Given the description of an element on the screen output the (x, y) to click on. 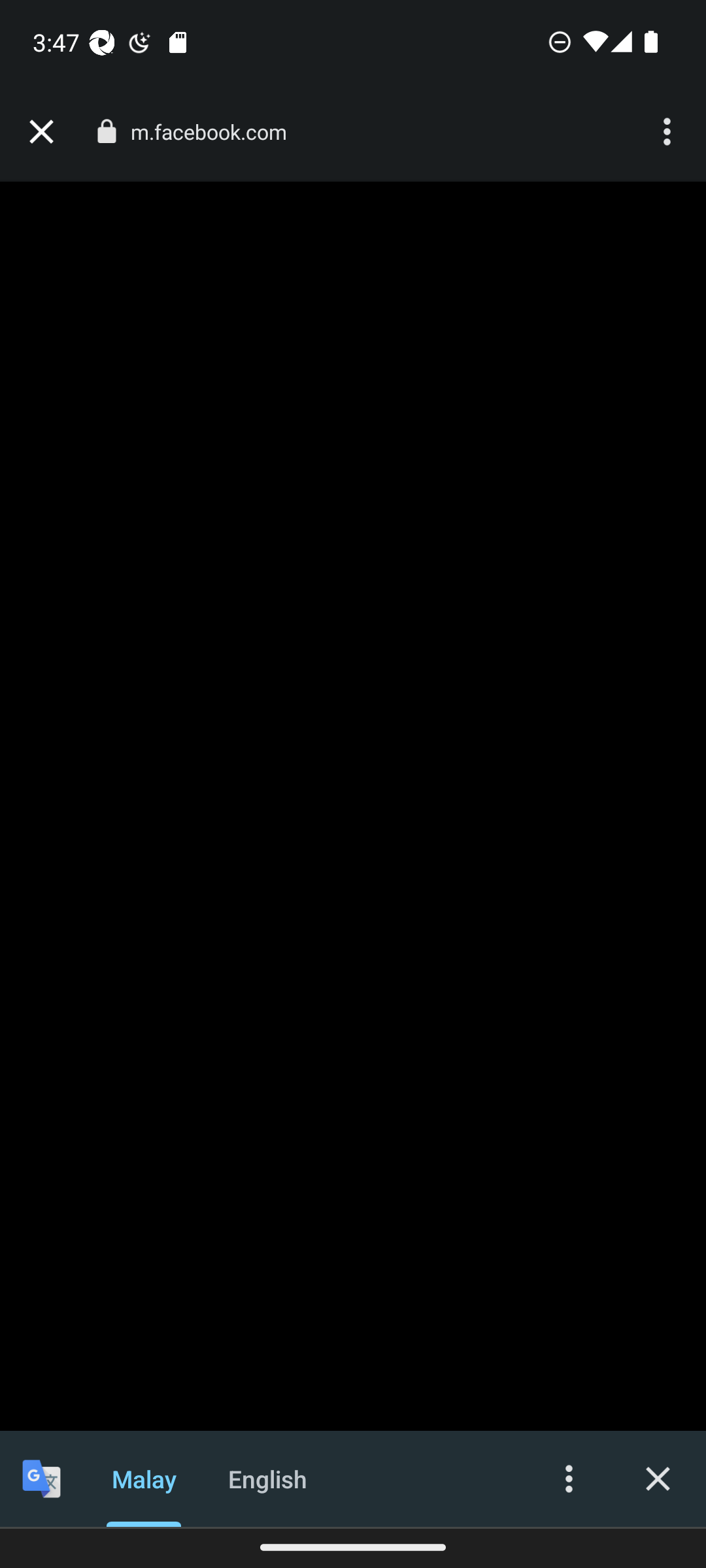
Close tab (41, 131)
More options (669, 131)
Connection is secure (106, 131)
m.facebook.com (215, 131)
English (267, 1478)
More options (568, 1478)
Close (657, 1478)
